Given the description of an element on the screen output the (x, y) to click on. 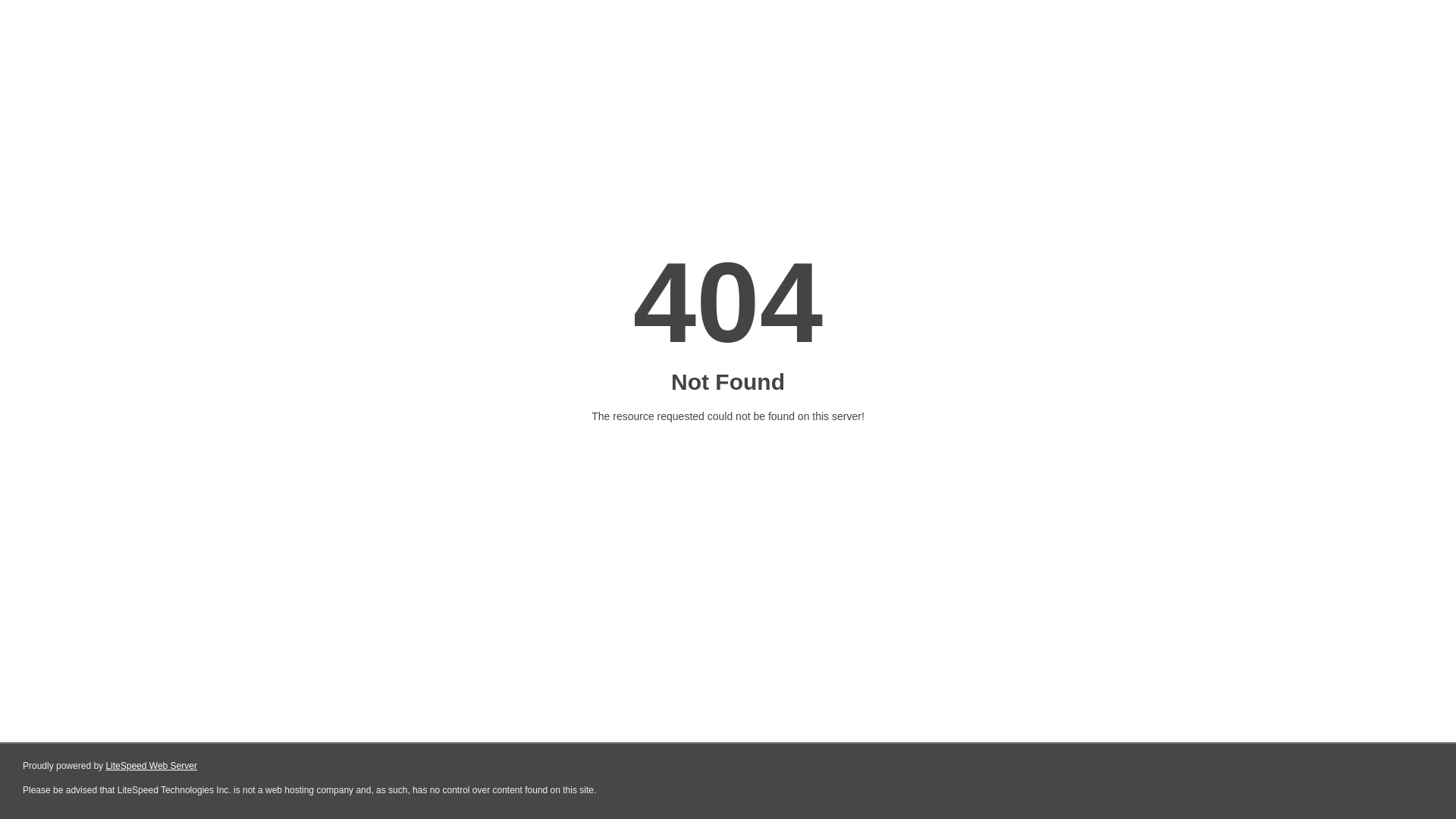
LiteSpeed Web Server Element type: text (151, 765)
